Given the description of an element on the screen output the (x, y) to click on. 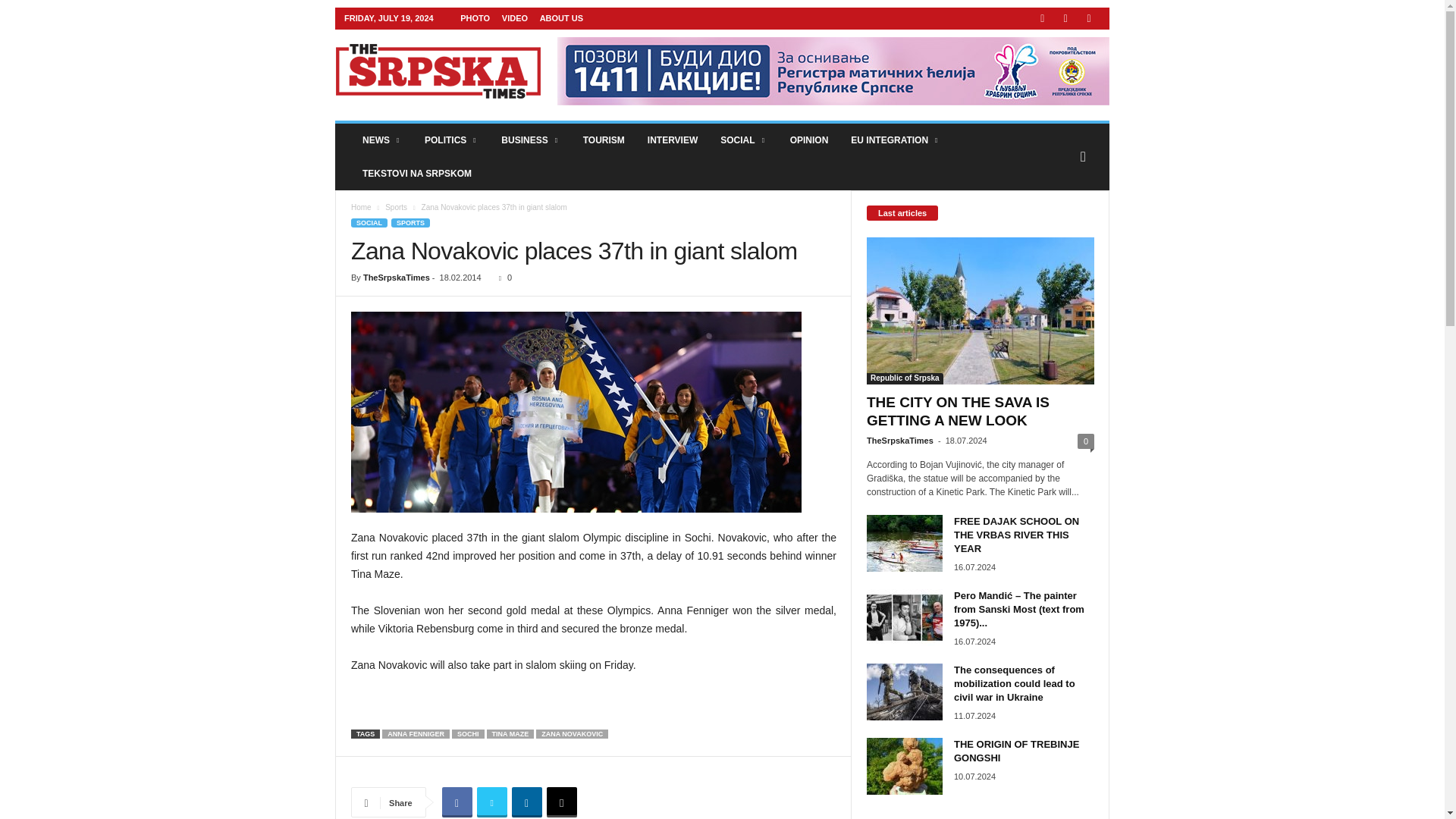
PHOTO (474, 17)
View all posts in Sports (396, 207)
The Srpska Times (437, 70)
VIDEO (514, 17)
ABOUT US (561, 17)
